Given the description of an element on the screen output the (x, y) to click on. 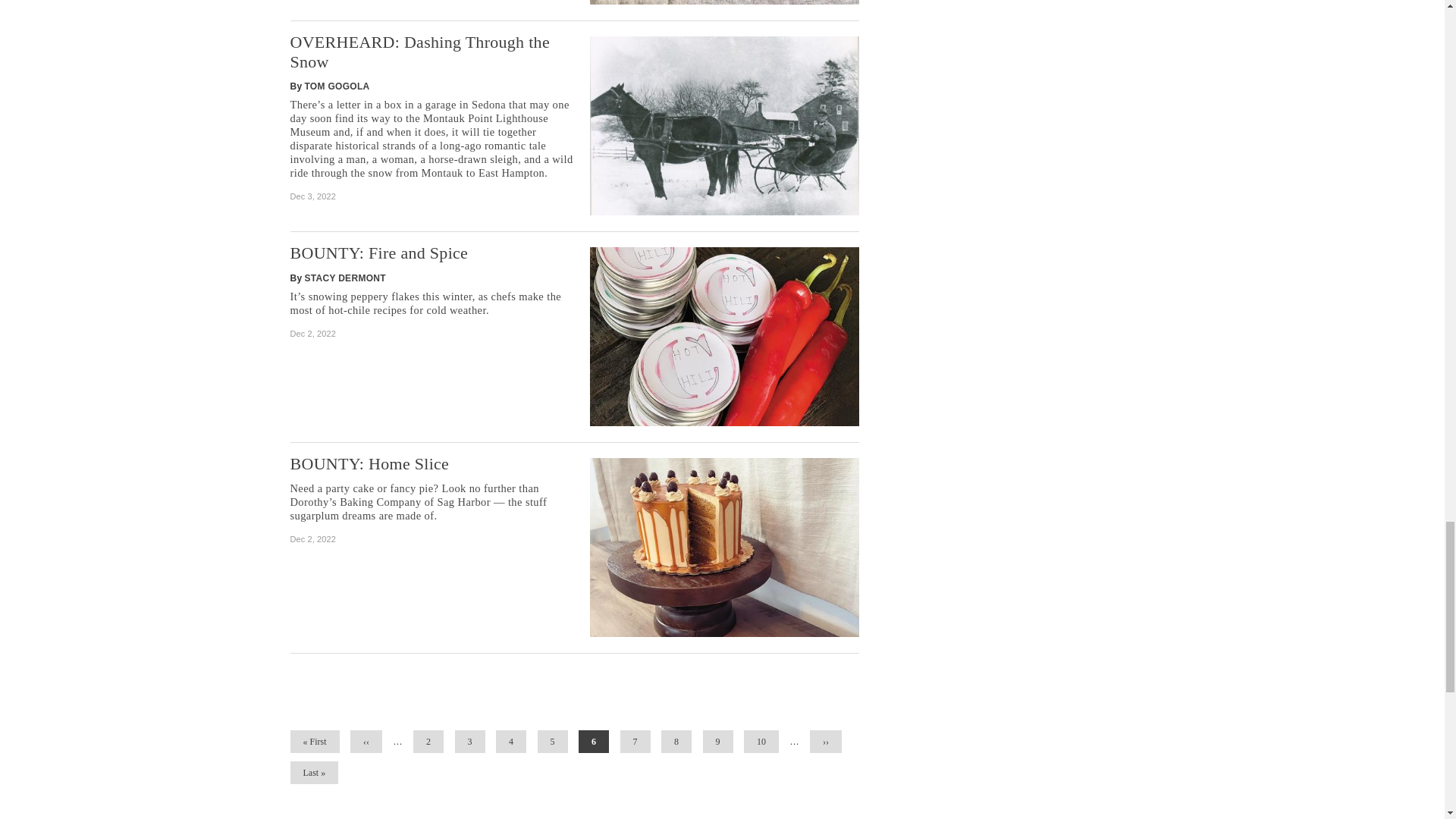
Go to page 10 (761, 741)
Go to page 5 (552, 741)
Go to previous page (365, 741)
Go to page 9 (718, 741)
Go to page 2 (428, 741)
Current page (593, 741)
Go to page 8 (676, 741)
Go to next page (825, 741)
Go to page 3 (469, 741)
Go to page 4 (510, 741)
Go to first page (314, 741)
Go to last page (313, 772)
Go to page 7 (635, 741)
